Given the description of an element on the screen output the (x, y) to click on. 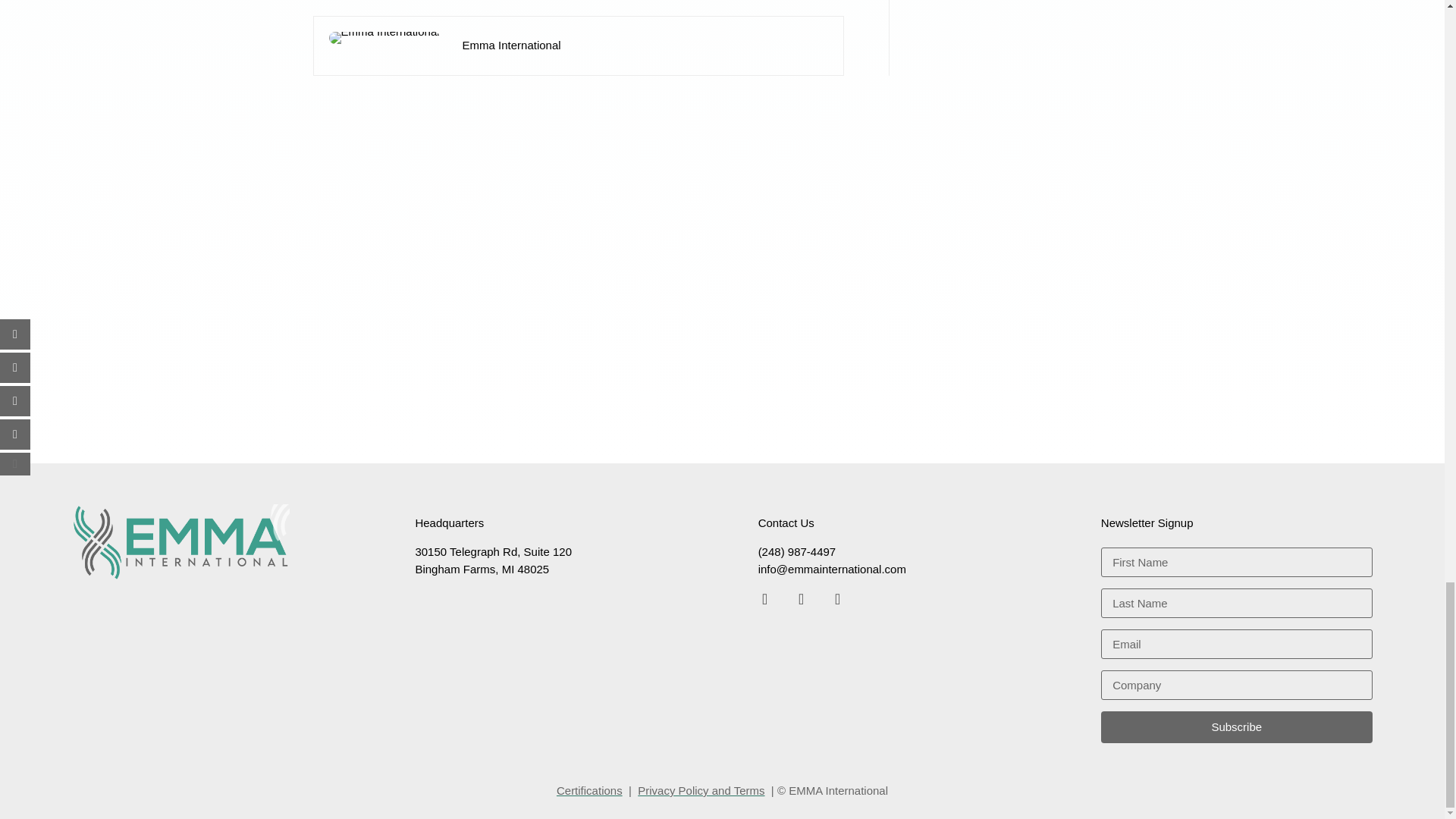
Certifications (589, 789)
Follow on Youtube (837, 598)
Follow on Facebook (764, 598)
Subscribe (1236, 726)
Privacy Policy and Terms (700, 789)
Follow on X (801, 598)
